Given the description of an element on the screen output the (x, y) to click on. 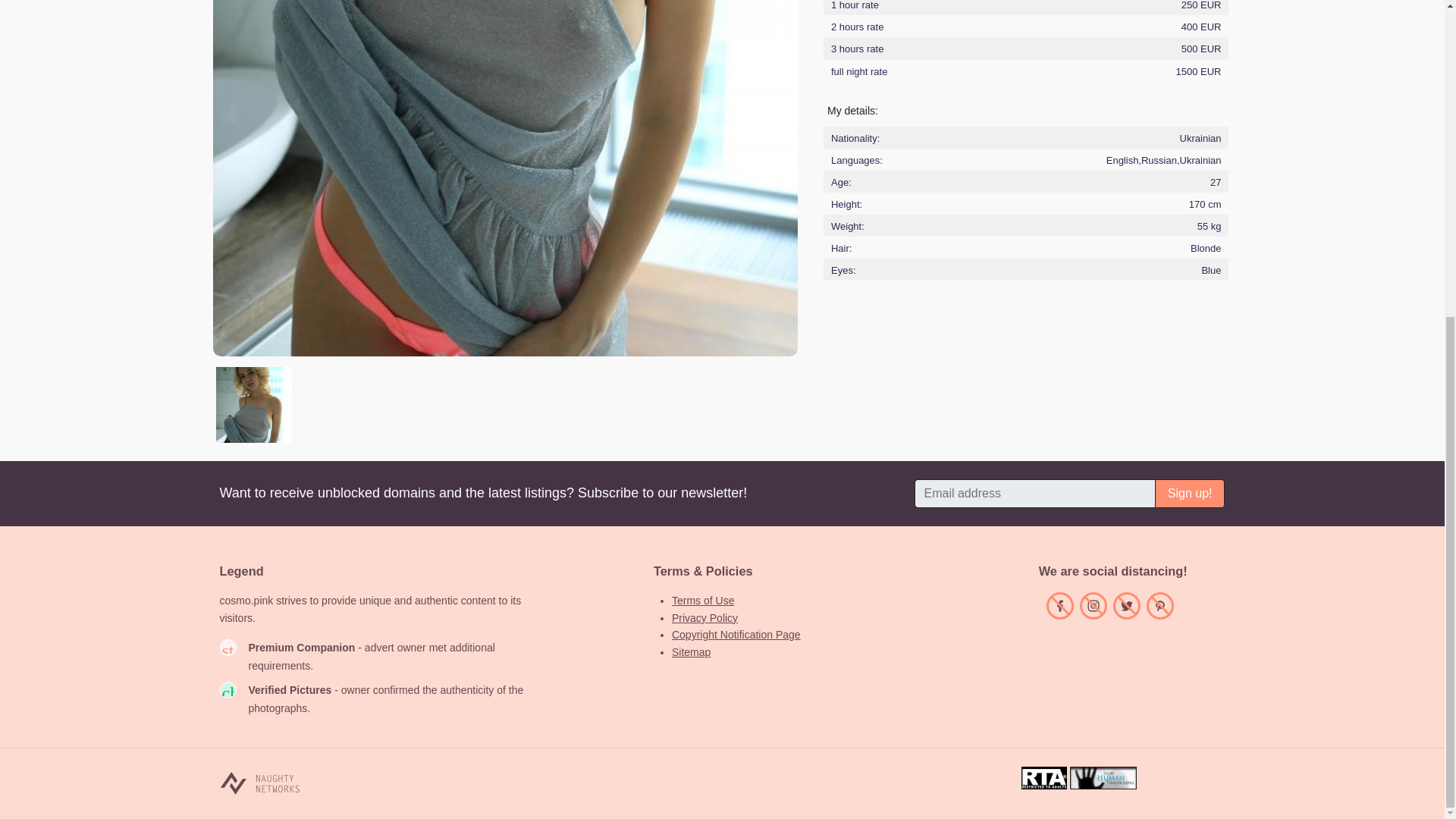
Sitemap (690, 652)
Privacy Policy (704, 617)
Copyright Notification Page (735, 634)
Contact us if you find copyrighted content on our website (735, 634)
Terms of Use (702, 600)
Sign up! (1189, 493)
Part of the Naughty Networks family (259, 782)
DMCA.com Protection Status (1185, 784)
Read about how we process visitors' data (704, 617)
Sign up! (1189, 493)
By using our website you agree to these Terms (702, 600)
